Given the description of an element on the screen output the (x, y) to click on. 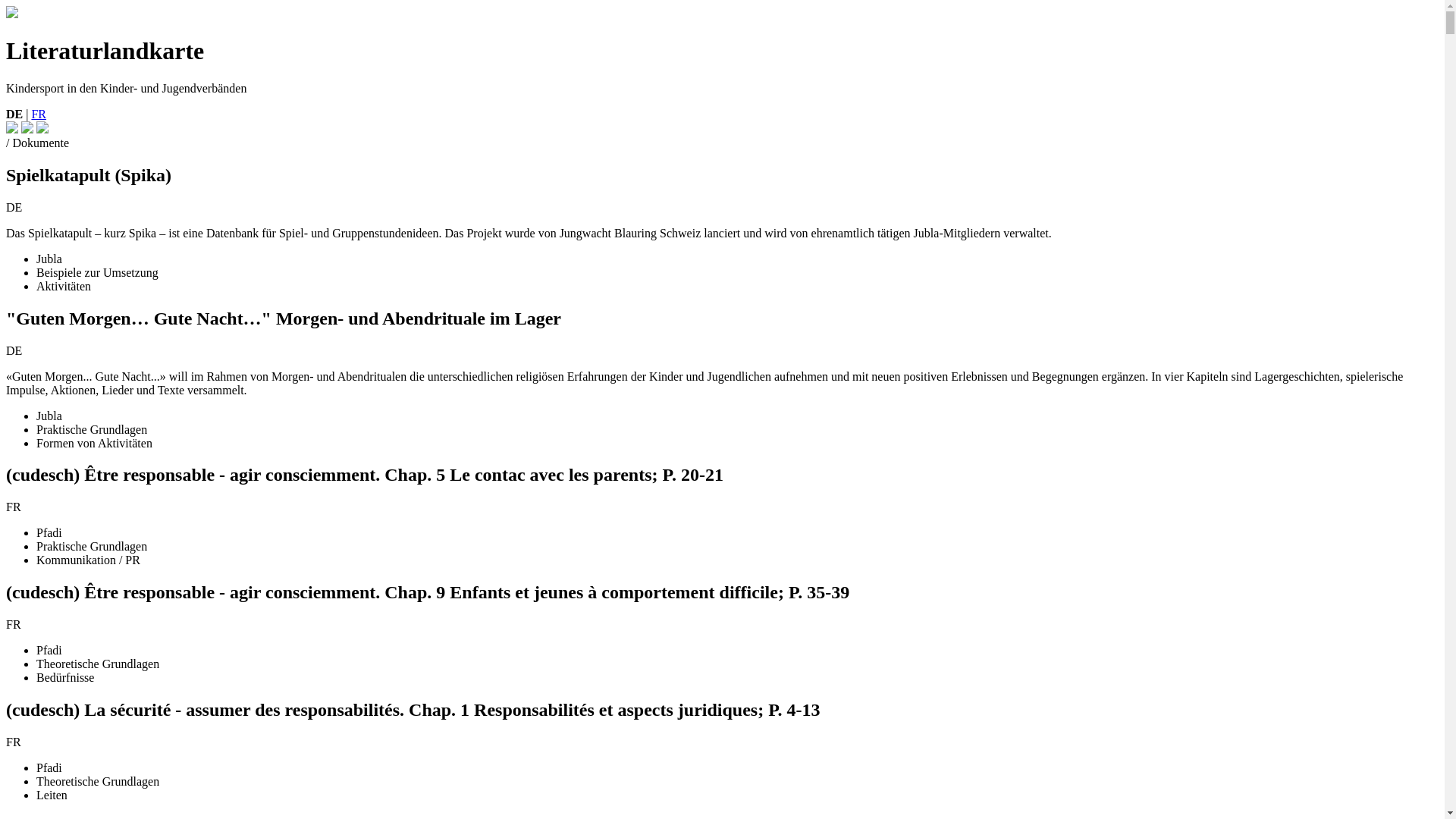
FR Element type: text (38, 113)
